Given the description of an element on the screen output the (x, y) to click on. 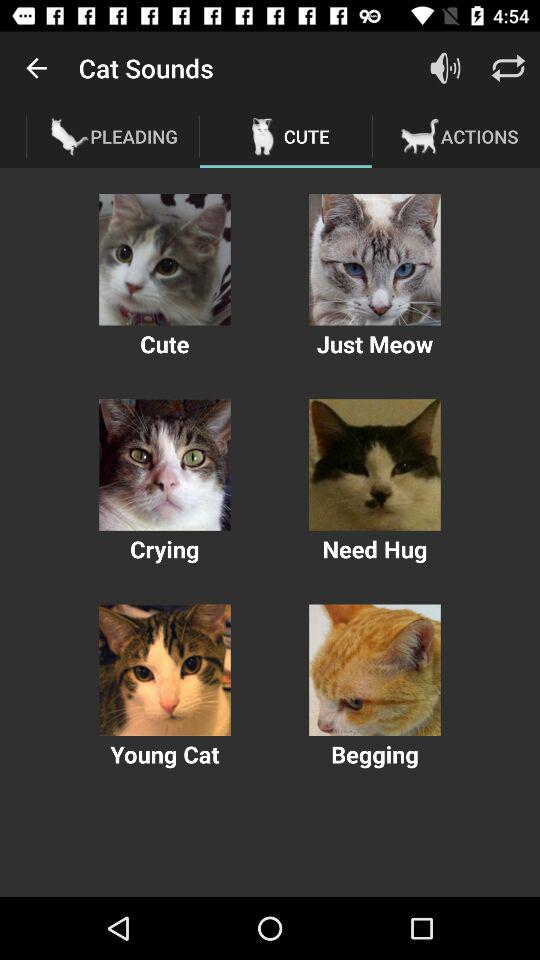
select sound options (164, 669)
